Given the description of an element on the screen output the (x, y) to click on. 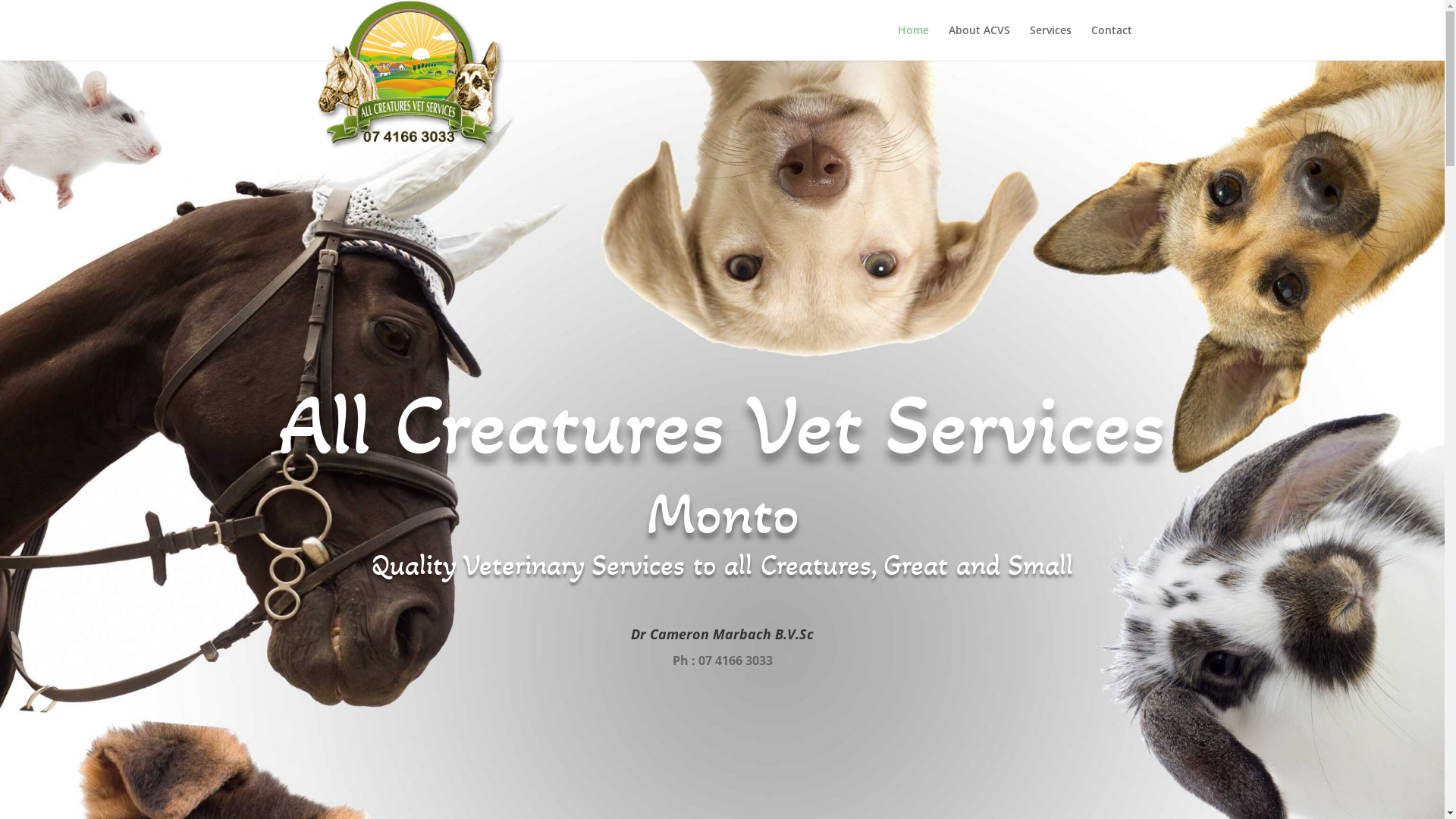
Home Element type: text (912, 42)
Contact Element type: text (1110, 42)
Services Element type: text (1050, 42)
About ACVS Element type: text (978, 42)
